Given the description of an element on the screen output the (x, y) to click on. 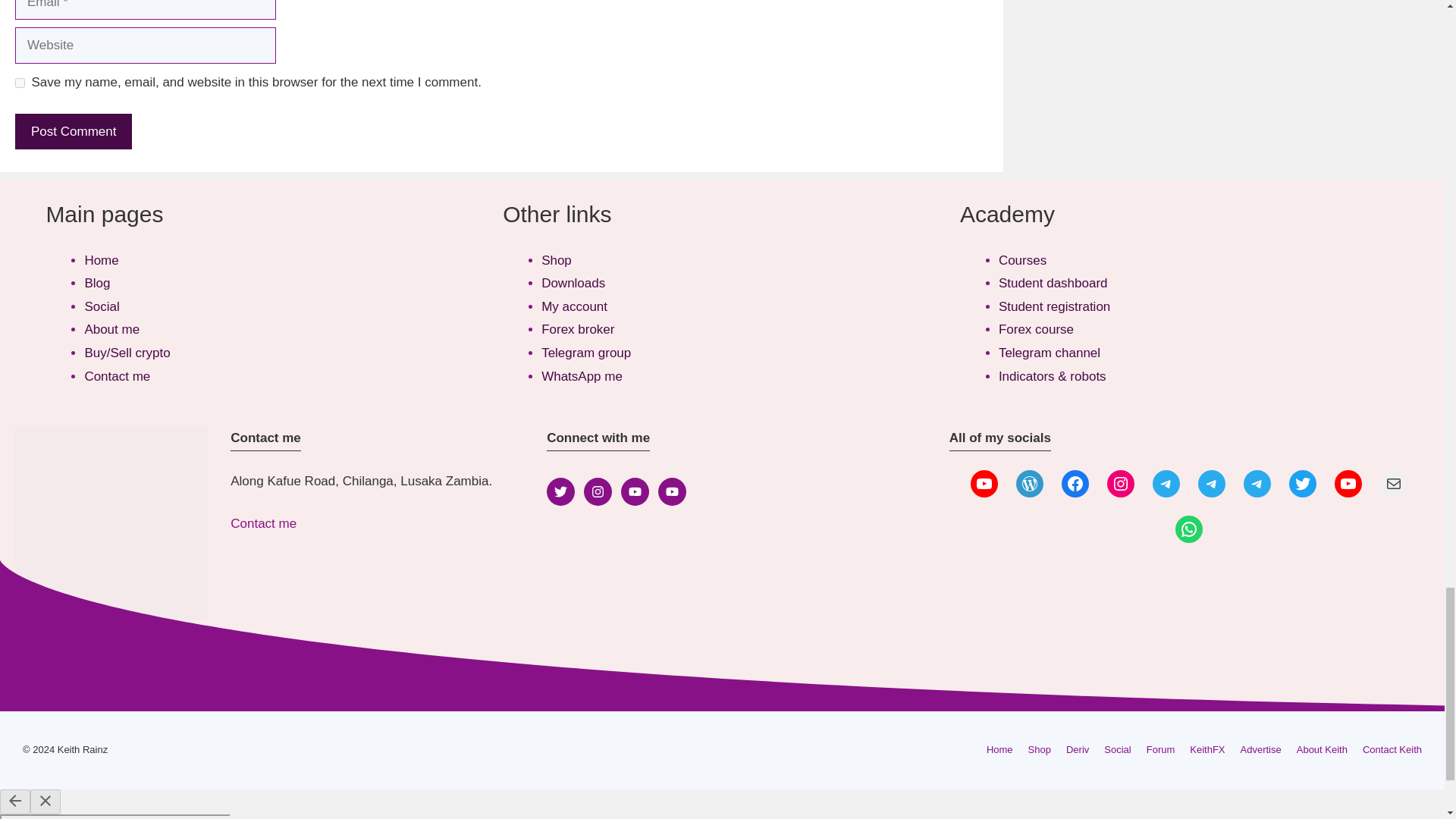
yes (19, 81)
Post Comment (73, 131)
